Given the description of an element on the screen output the (x, y) to click on. 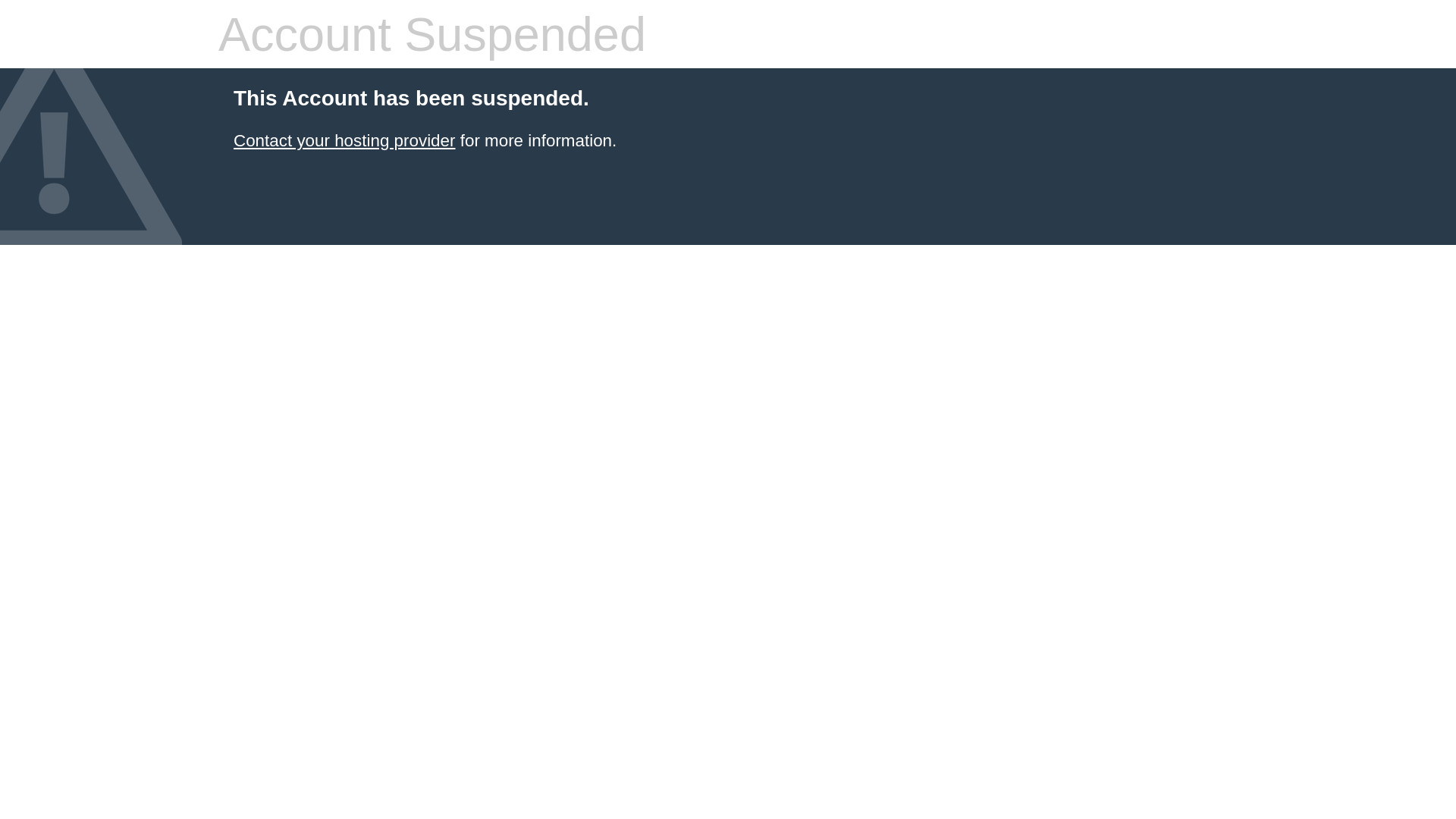
Contact your hosting provider Element type: text (344, 140)
